Given the description of an element on the screen output the (x, y) to click on. 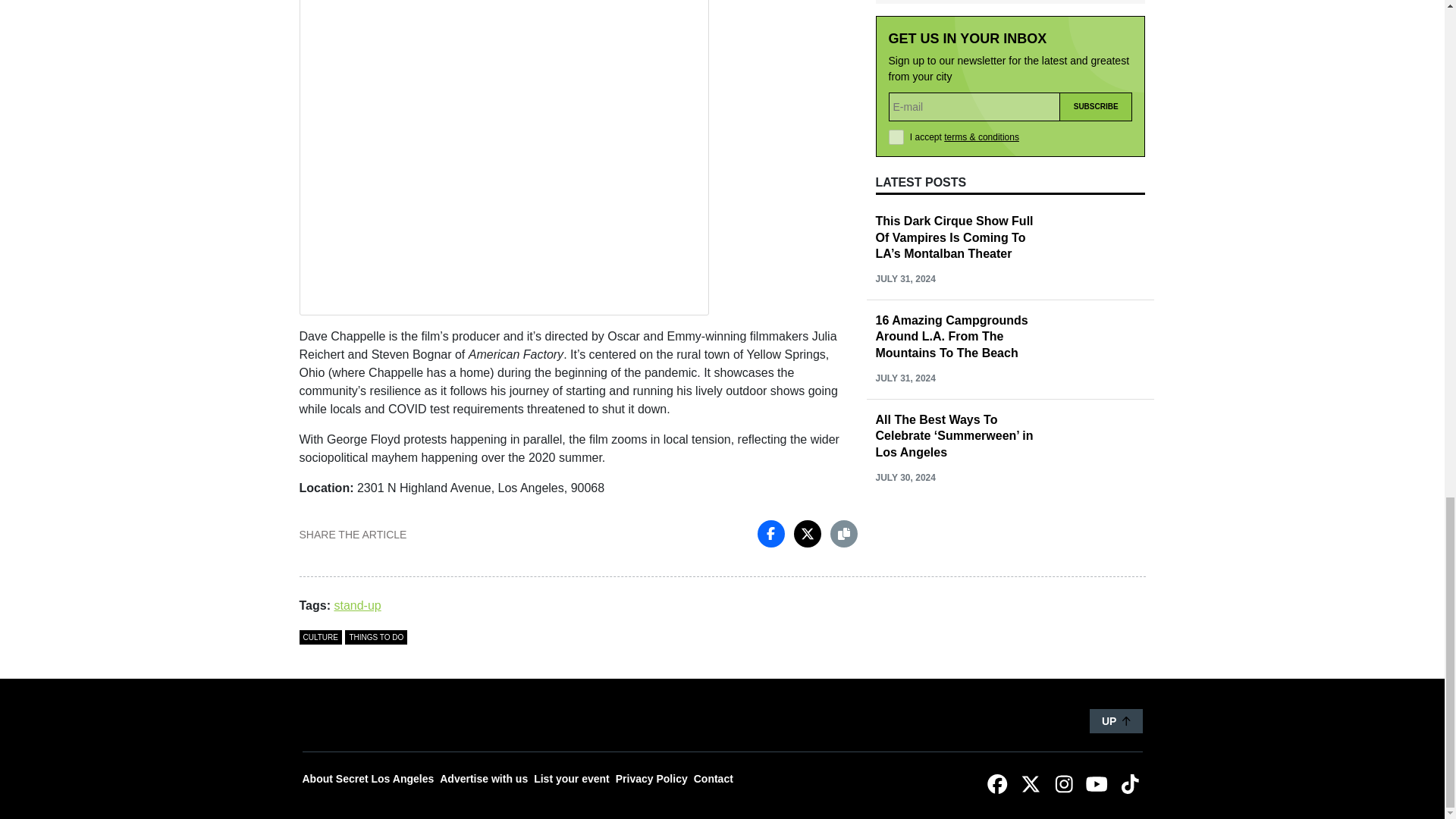
JULY 31, 2024 (904, 85)
JULY 30, 2024 (904, 284)
JULY 31, 2024 (904, 184)
